Given the description of an element on the screen output the (x, y) to click on. 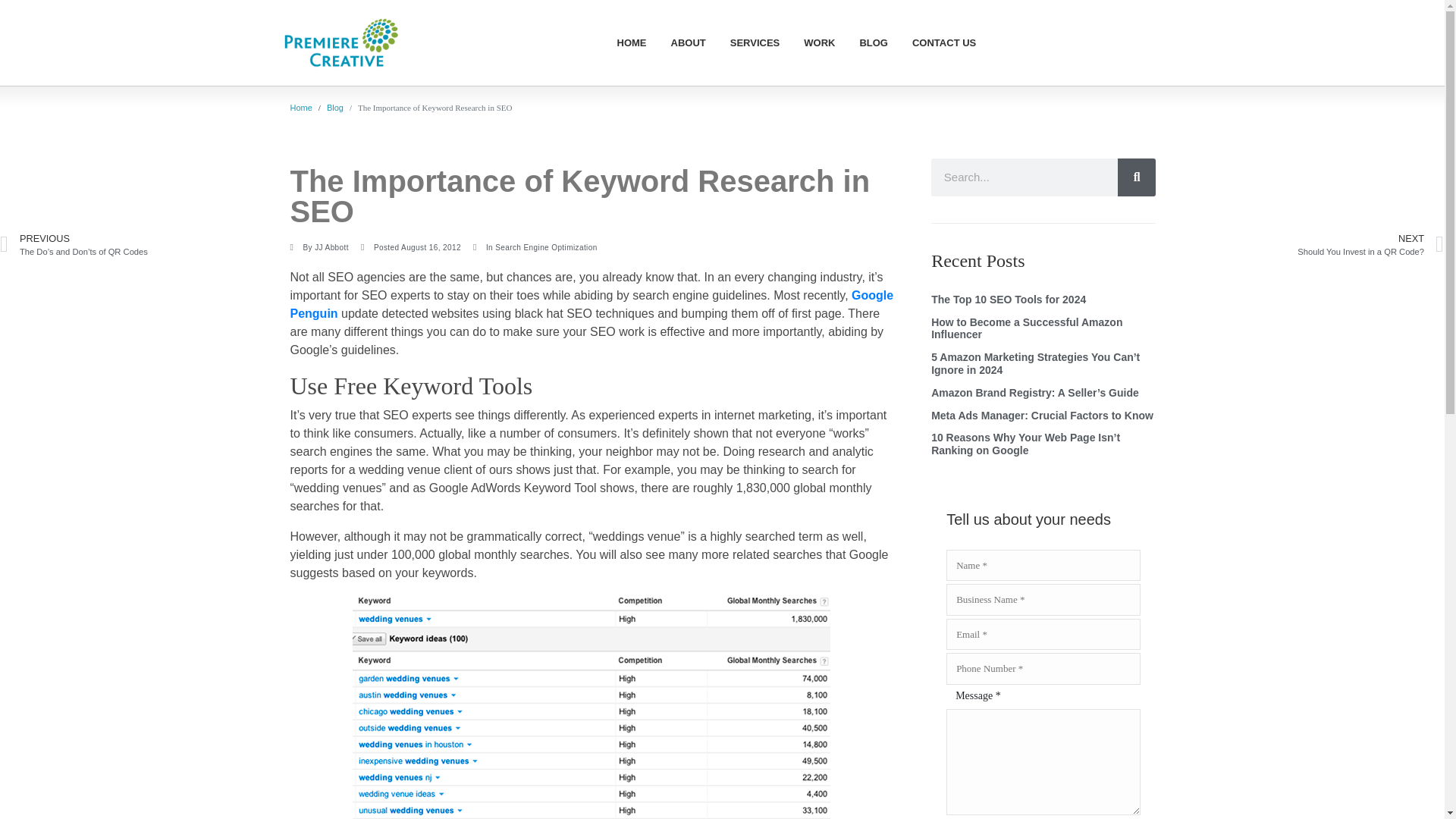
wedding-venues (1083, 244)
SERVICES (590, 706)
Posted August 16, 2012 (754, 42)
BLOG (411, 247)
Google Penguin (873, 42)
Home (591, 304)
By JJ Abbott (300, 107)
WORK (318, 247)
Blog (819, 42)
